Given the description of an element on the screen output the (x, y) to click on. 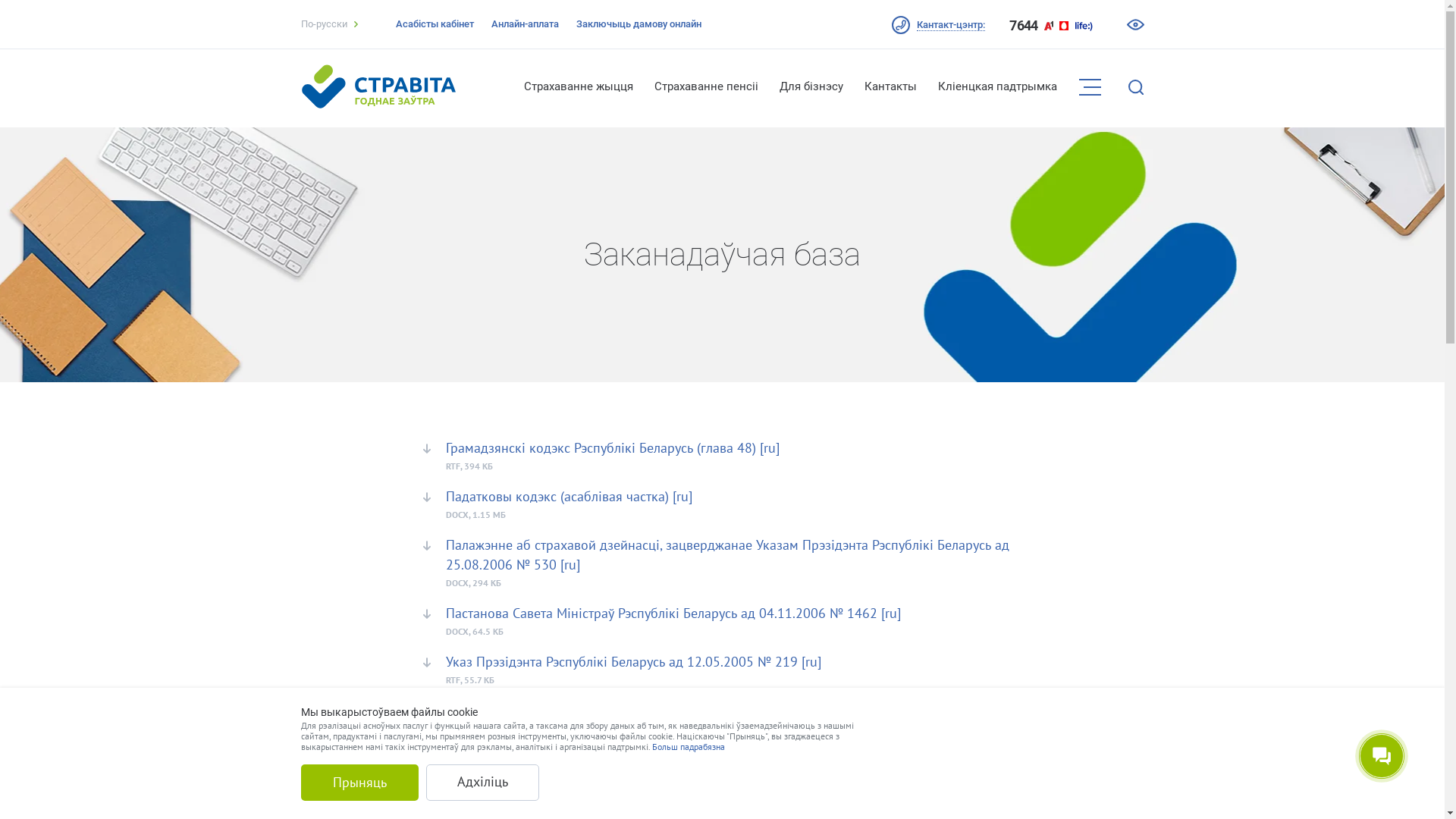
7644 Element type: text (1023, 25)
